Given the description of an element on the screen output the (x, y) to click on. 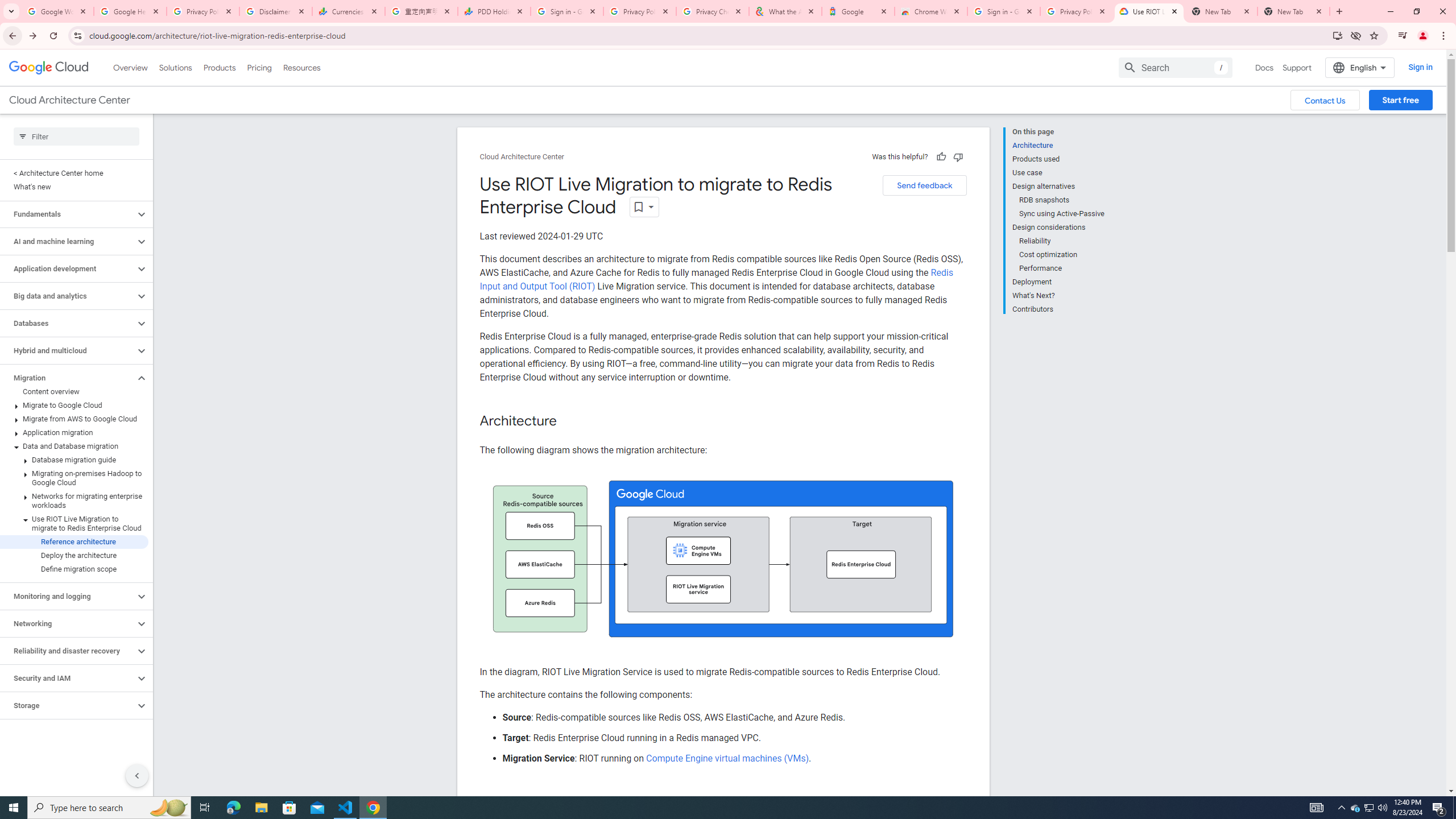
Helpful (940, 156)
Docs, selected (1264, 67)
Migrating on-premises Hadoop to Google Cloud (74, 477)
Use case (1058, 172)
Sign in - Google Accounts (566, 11)
Reliability and disaster recovery (67, 650)
Design considerations (1058, 227)
PDD Holdings Inc - ADR (PDD) Price & News - Google Finance (493, 11)
Databases (67, 323)
